Given the description of an element on the screen output the (x, y) to click on. 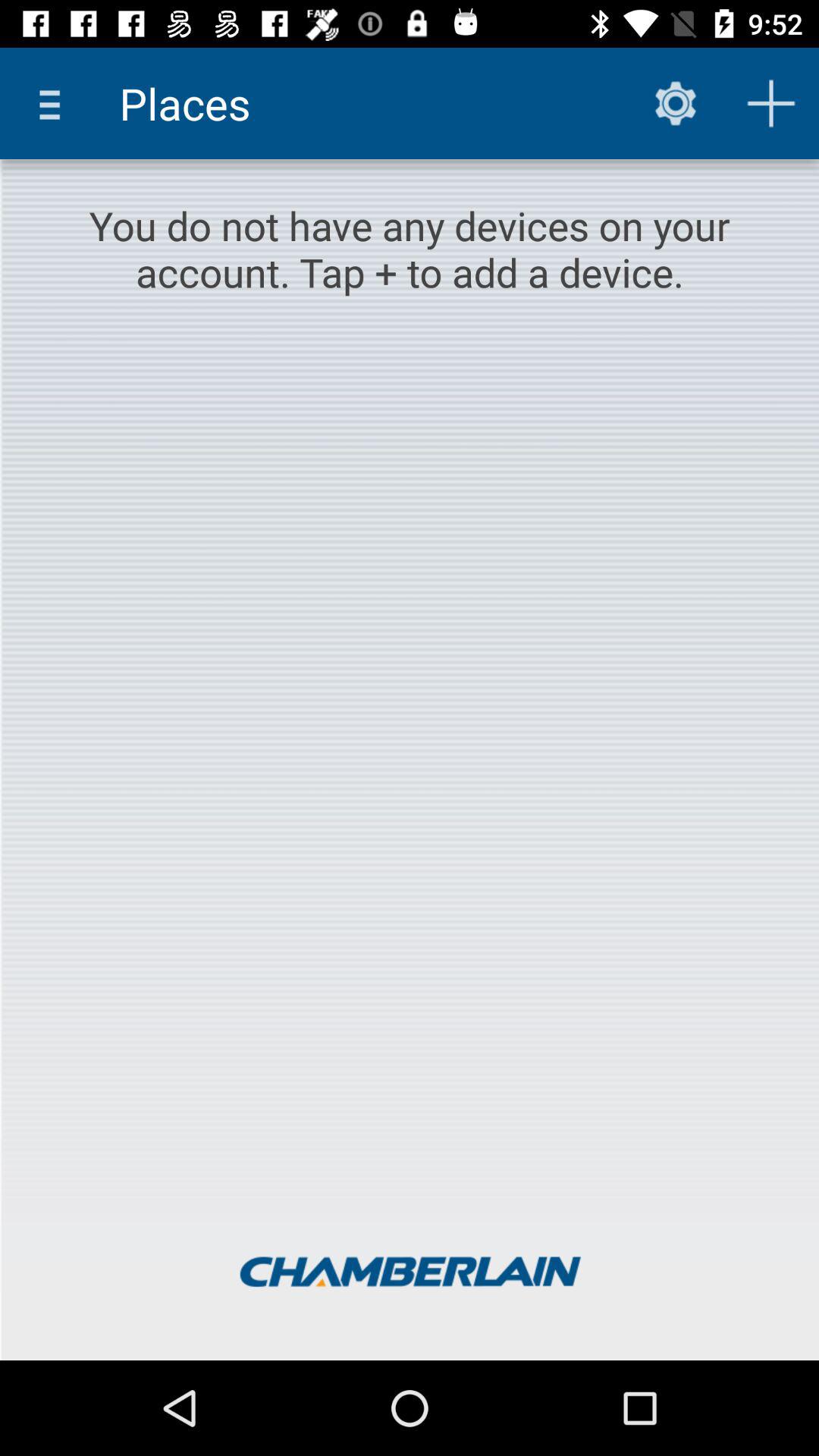
open the item above the you do not icon (675, 103)
